Given the description of an element on the screen output the (x, y) to click on. 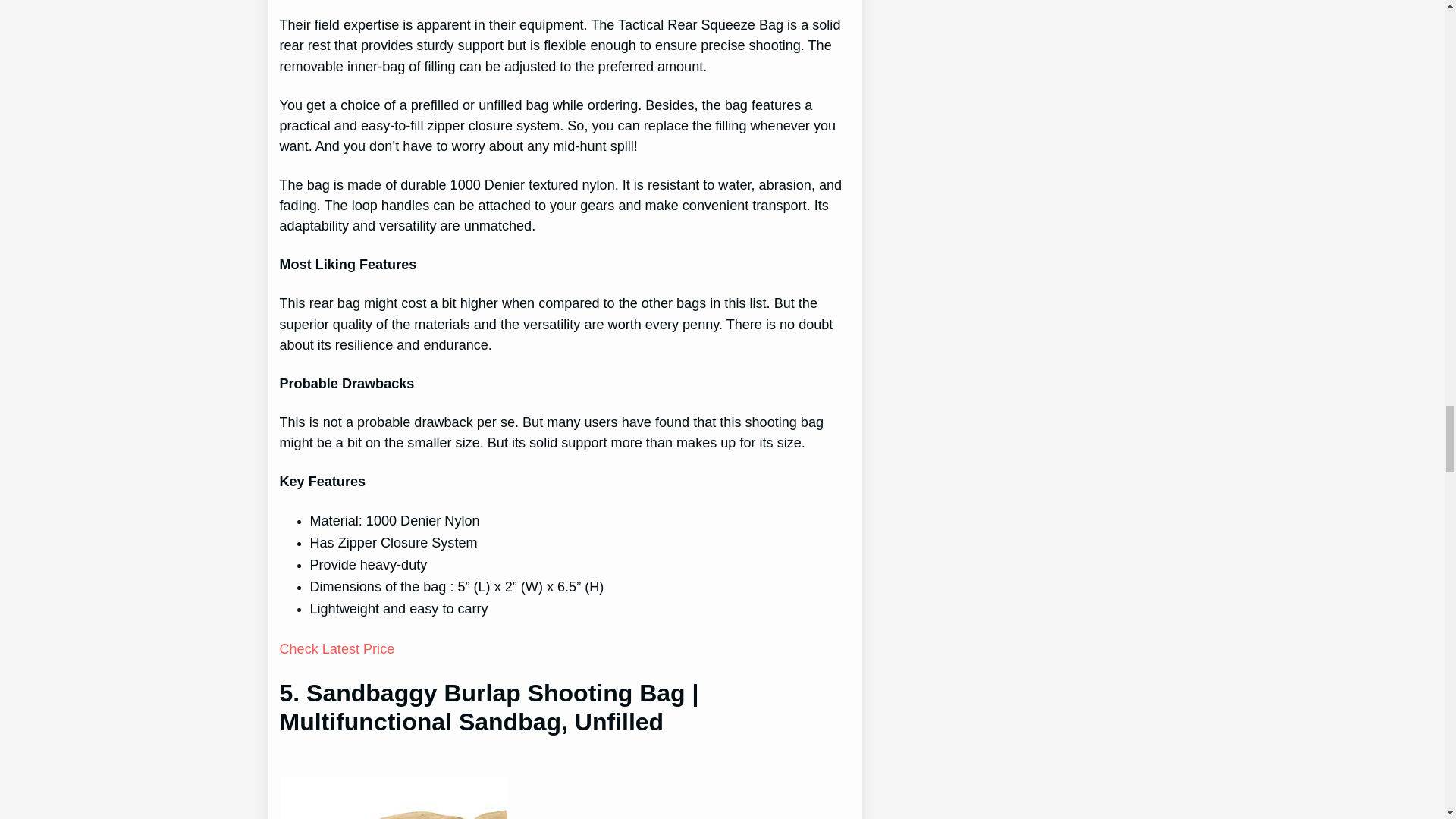
Check Latest Price (336, 648)
